Given the description of an element on the screen output the (x, y) to click on. 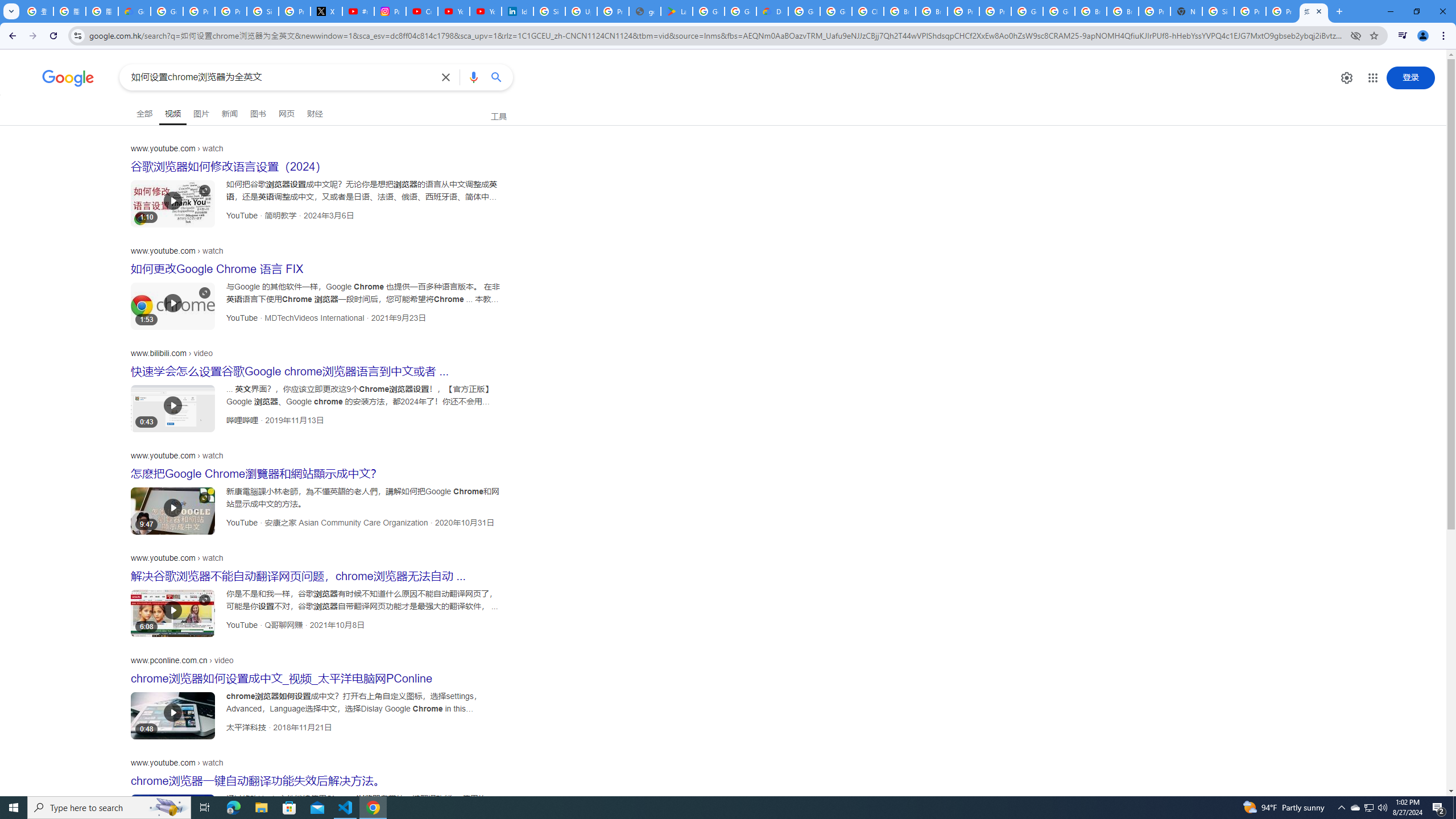
New Tab (1185, 11)
Browse Chrome as a guest - Computer - Google Chrome Help (1091, 11)
